Given the description of an element on the screen output the (x, y) to click on. 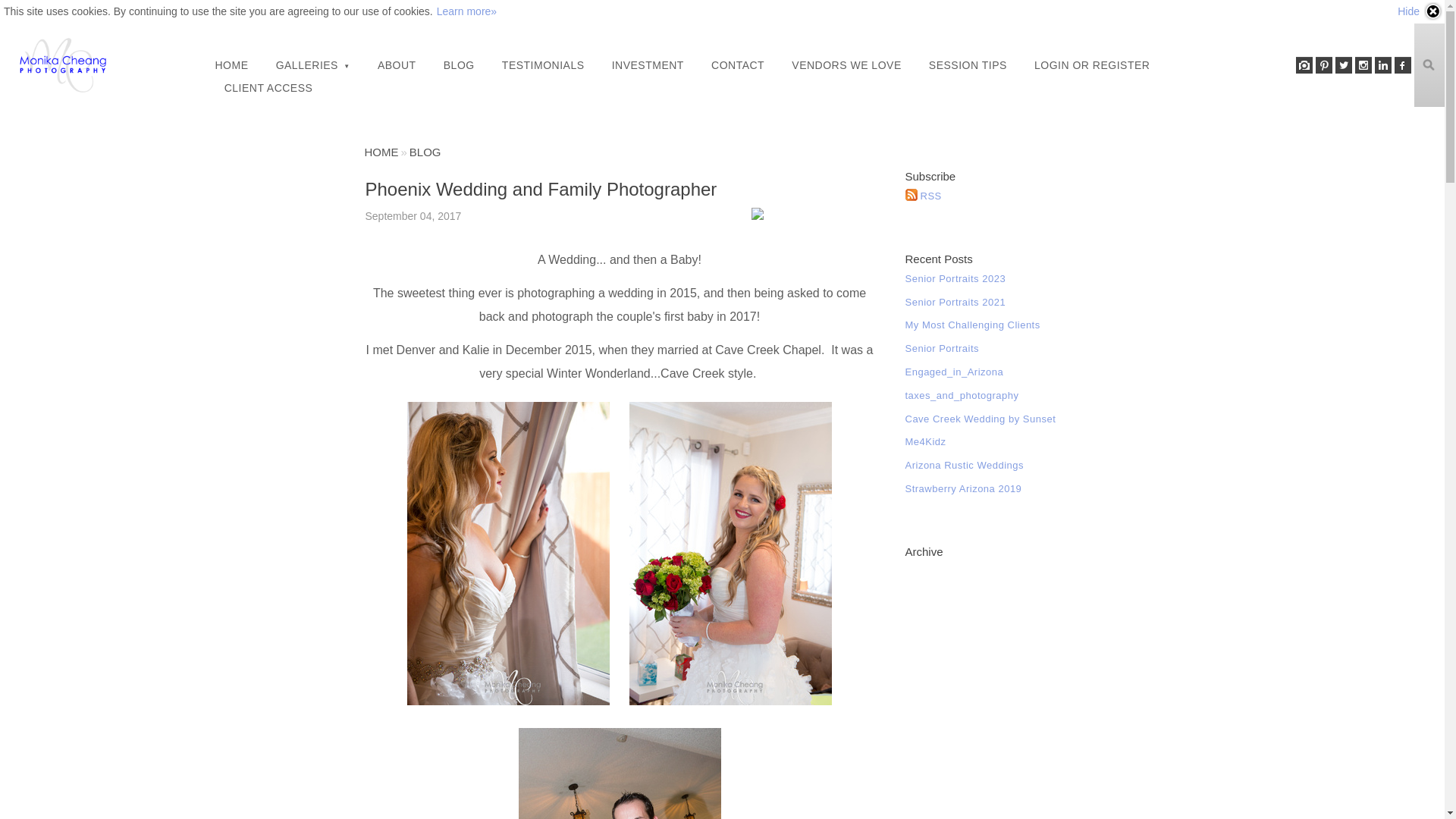
SESSION TIPS (968, 65)
TESTIMONIALS (543, 65)
BLOG (458, 65)
INVESTMENT (647, 65)
Hide (1419, 11)
Monika Cheang Photography, LLC. (380, 151)
Monika Cheang Photography, LLC. (62, 65)
HOME (380, 151)
HOME (231, 65)
CLIENT ACCESS (268, 87)
CONTACT (737, 65)
VENDORS WE LOVE (846, 65)
ABOUT (396, 65)
LOGIN OR REGISTER (1091, 65)
